Given the description of an element on the screen output the (x, y) to click on. 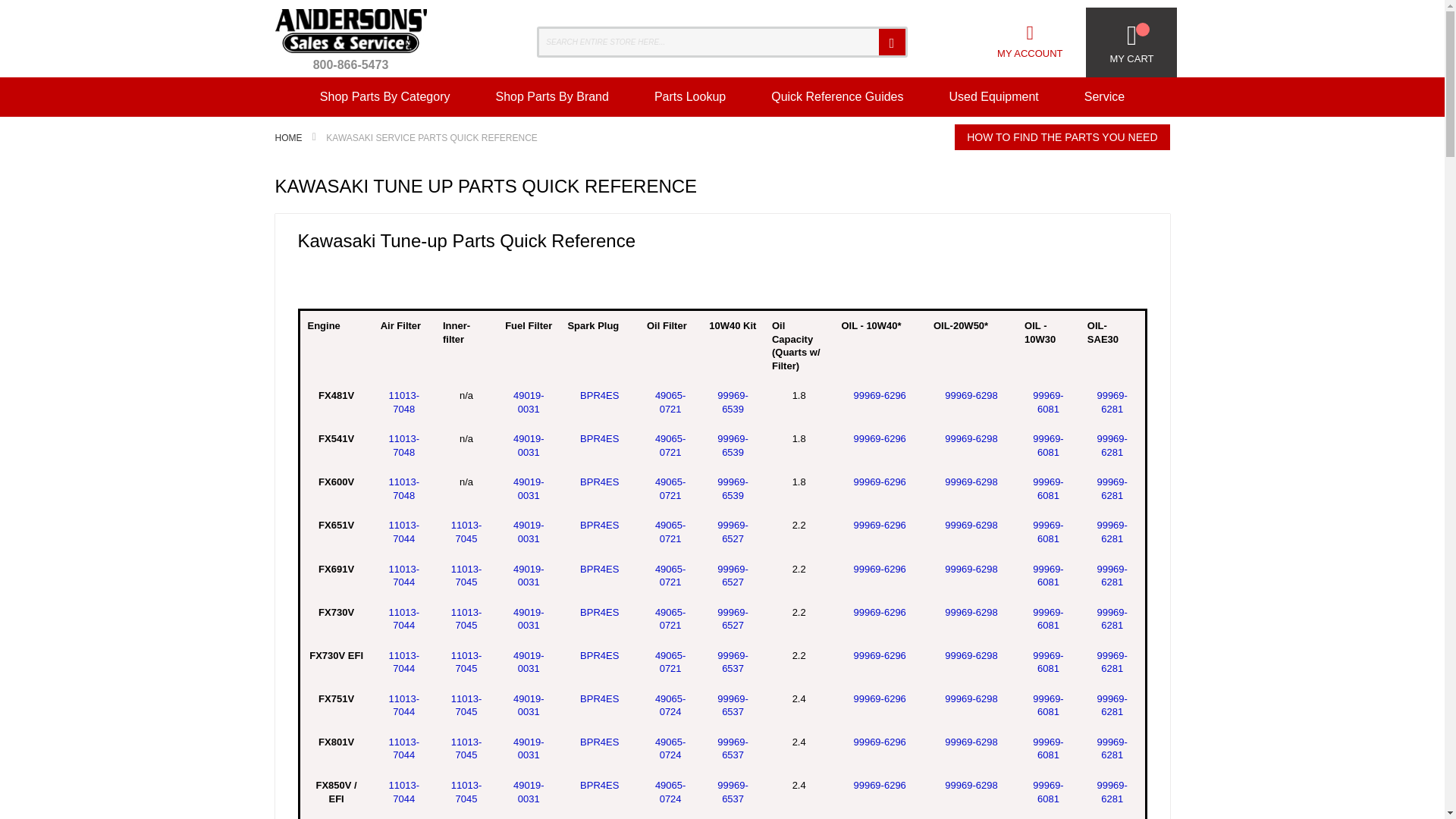
HOME (289, 137)
Shop Parts By Category (384, 96)
Parts Lookup (690, 96)
Service (1104, 96)
Quick Reference Guides (836, 96)
Shop Parts By Brand (551, 96)
800-866-5473 (350, 44)
MY ACCOUNT (1029, 41)
MY CART (1131, 41)
Go to Home Page (289, 137)
